Given the description of an element on the screen output the (x, y) to click on. 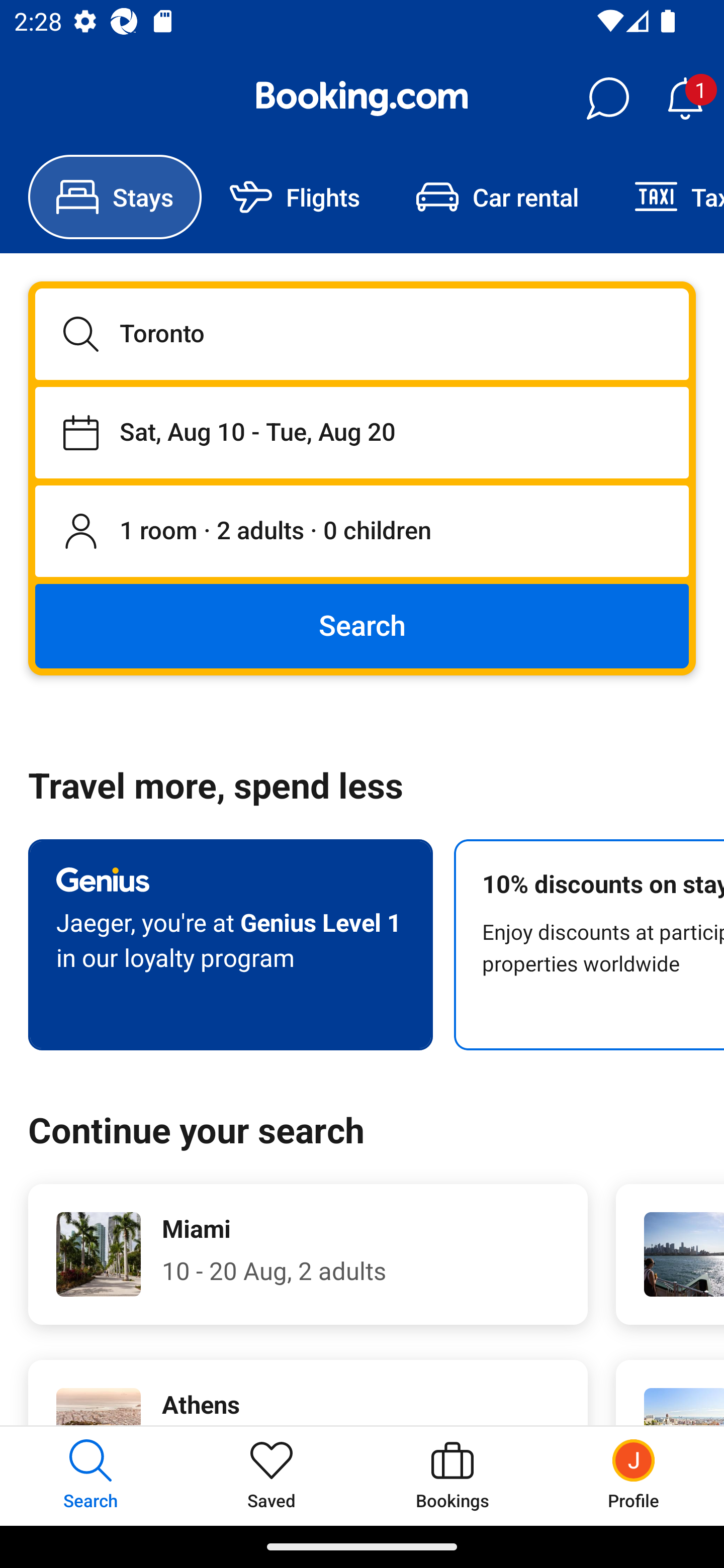
Messages (607, 98)
Notifications (685, 98)
Stays (114, 197)
Flights (294, 197)
Car rental (497, 197)
Taxi (665, 197)
Toronto (361, 333)
Staying from Sat, Aug 10 until Tue, Aug 20 (361, 432)
1 room, 2 adults, 0 children (361, 531)
Search (361, 625)
Miami 10 - 20 Aug, 2 adults (307, 1253)
Saved (271, 1475)
Bookings (452, 1475)
Profile (633, 1475)
